Given the description of an element on the screen output the (x, y) to click on. 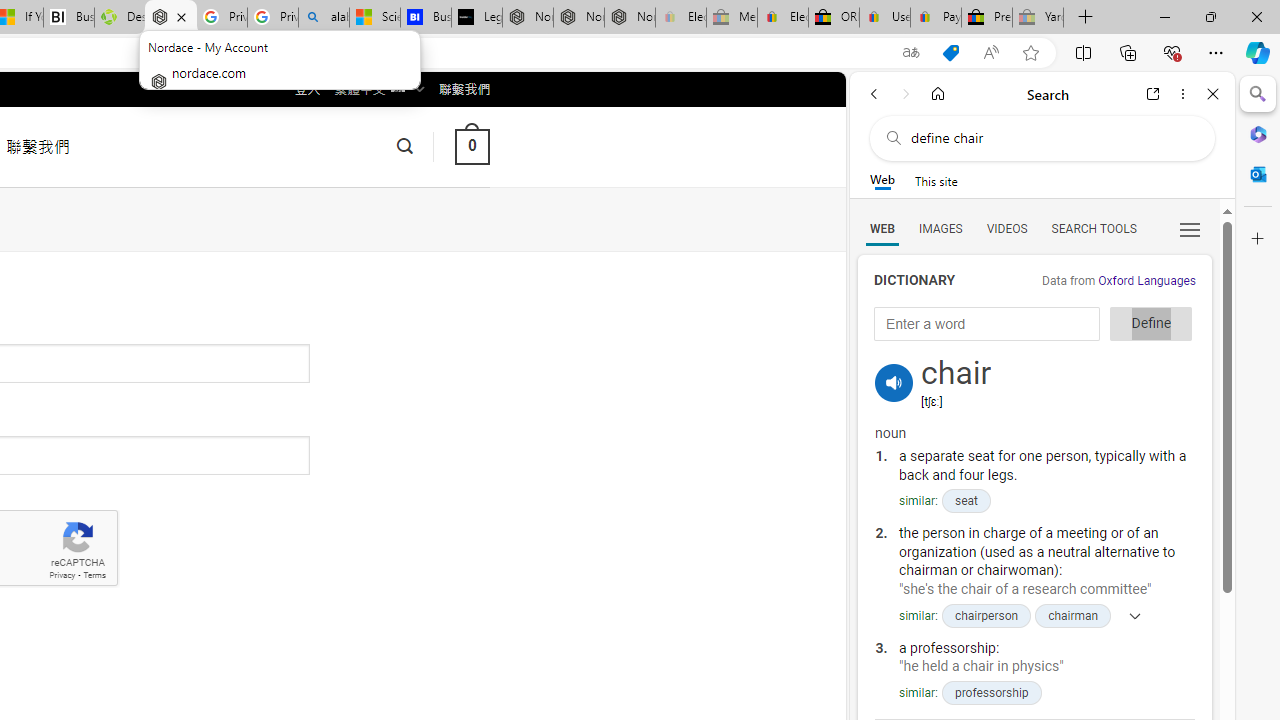
pronounce (893, 382)
professorship (990, 691)
seat (965, 501)
Enter a word (987, 323)
